Given the description of an element on the screen output the (x, y) to click on. 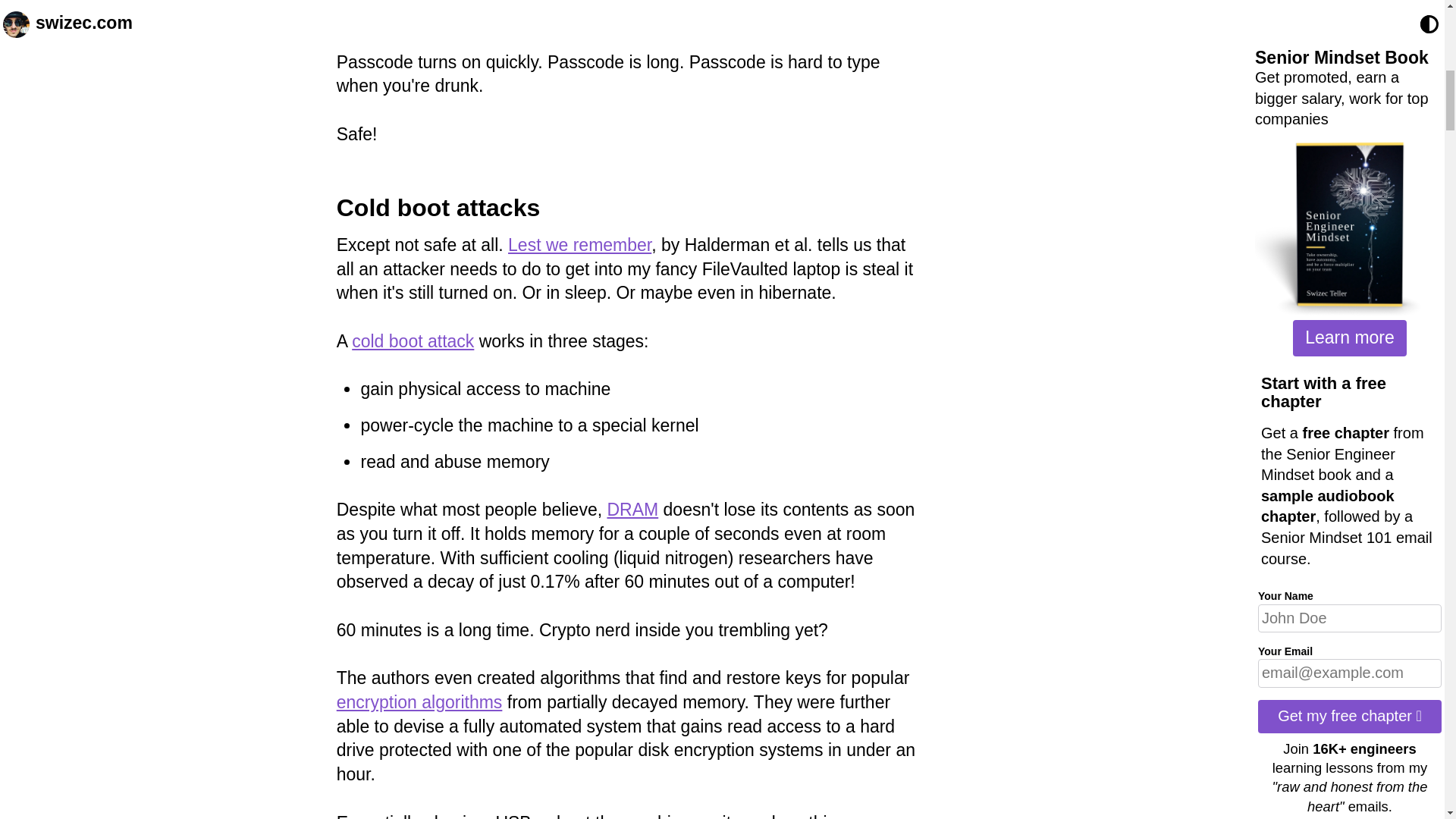
Lest we remember (579, 244)
Encryption (419, 701)
encryption algorithms (419, 701)
cold boot attack (413, 341)
Cold boot attack (413, 341)
DRAM (632, 509)
Cold boot attacks (438, 207)
Dynamic random-access memory (632, 509)
